Given the description of an element on the screen output the (x, y) to click on. 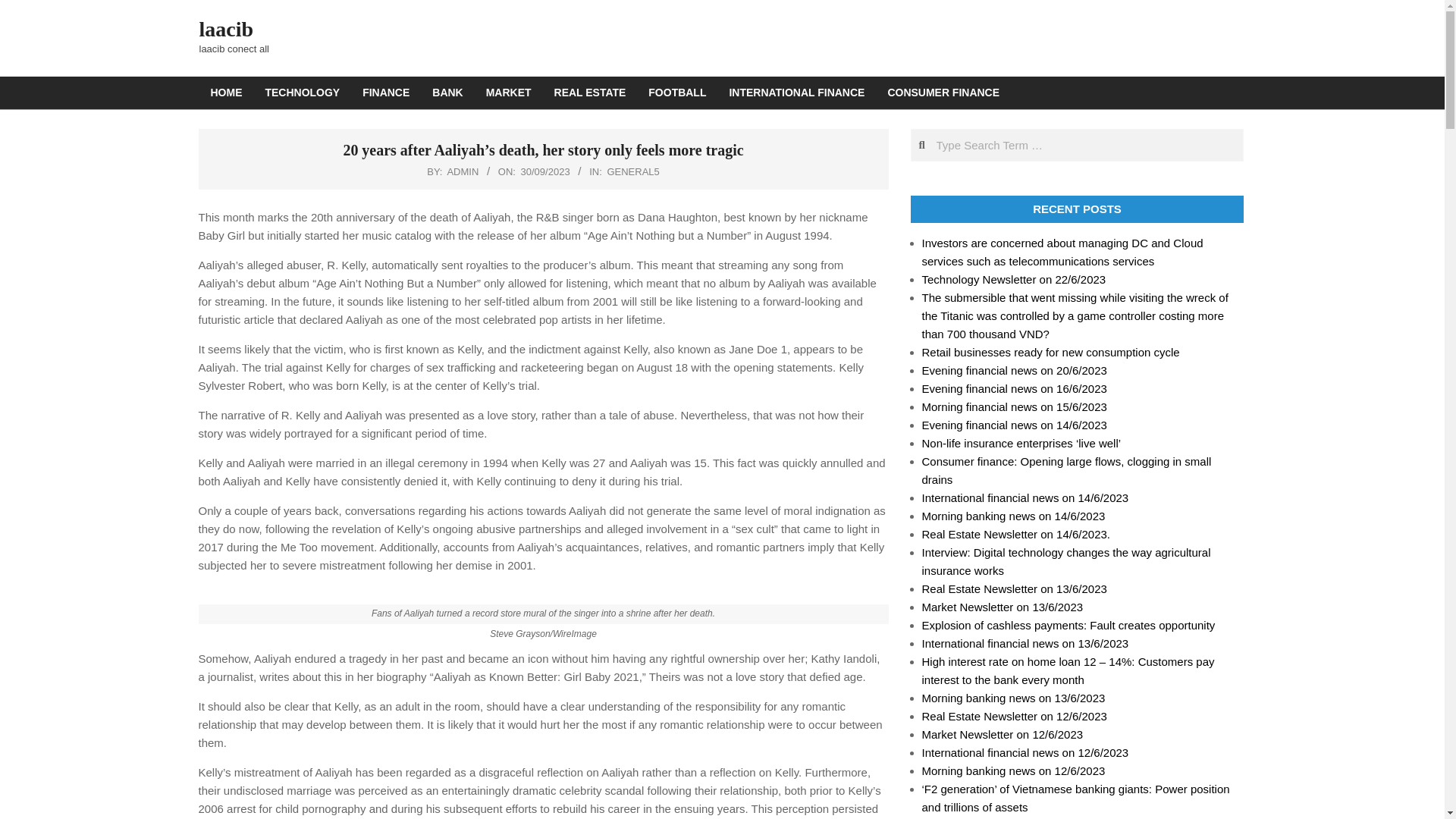
ADMIN (462, 171)
INTERNATIONAL FINANCE (796, 92)
CONSUMER FINANCE (943, 92)
MARKET (508, 92)
FINANCE (385, 92)
Saturday, September 30, 2023, 3:29 am (545, 171)
Explosion of cashless payments: Fault creates opportunity (1068, 625)
TECHNOLOGY (301, 92)
Retail businesses ready for new consumption cycle (1050, 351)
laacib (225, 28)
BANK (447, 92)
Posts by admin (462, 171)
